Given the description of an element on the screen output the (x, y) to click on. 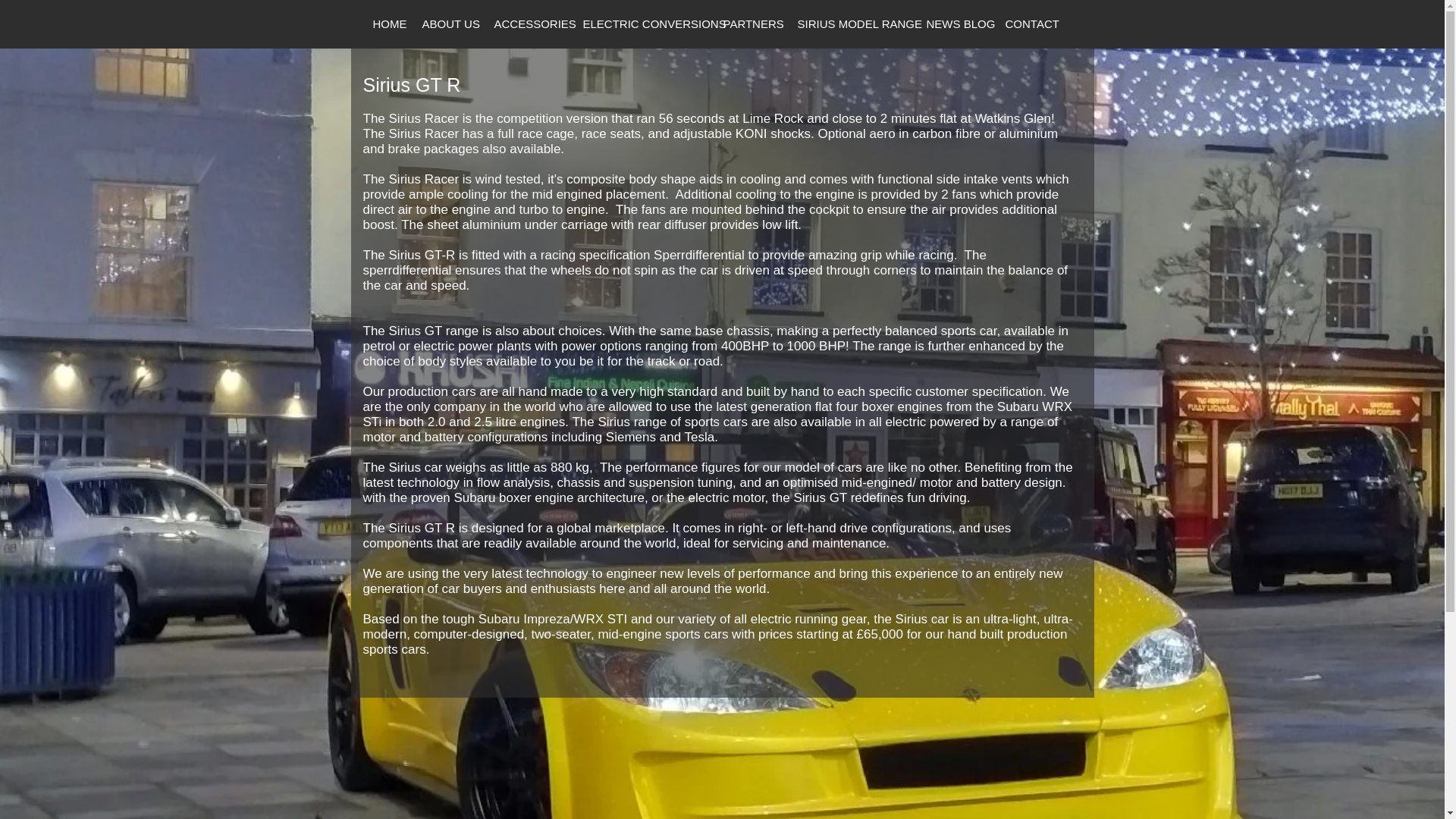
CONTACT (1026, 24)
ACCESSORIES (527, 24)
ABOUT US (448, 24)
SIRIUS MODEL RANGE (851, 24)
HOME (387, 24)
ELECTRIC CONVERSIONS (643, 24)
PARTNERS (750, 24)
NEWS BLOG (954, 24)
